Given the description of an element on the screen output the (x, y) to click on. 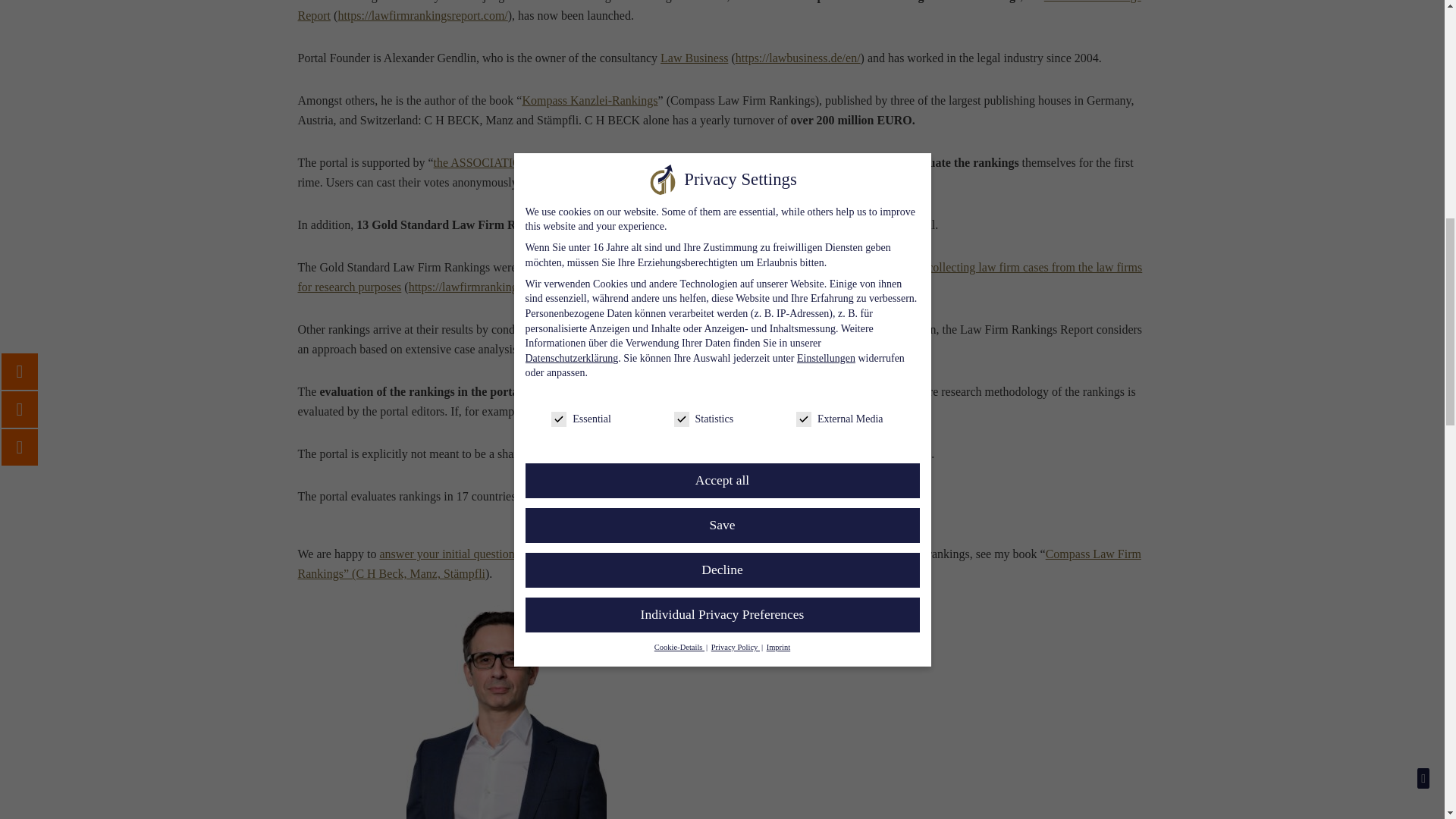
Kompass Kanzlei-Rankings (589, 100)
Law Firm Rankings Report (718, 11)
the ASSOCIATION OF AUSTRIAN CORPORATE COUNSEL (589, 162)
answer your initial questions on a successful submission (515, 553)
Law Business (694, 57)
proven record of (886, 267)
